Given the description of an element on the screen output the (x, y) to click on. 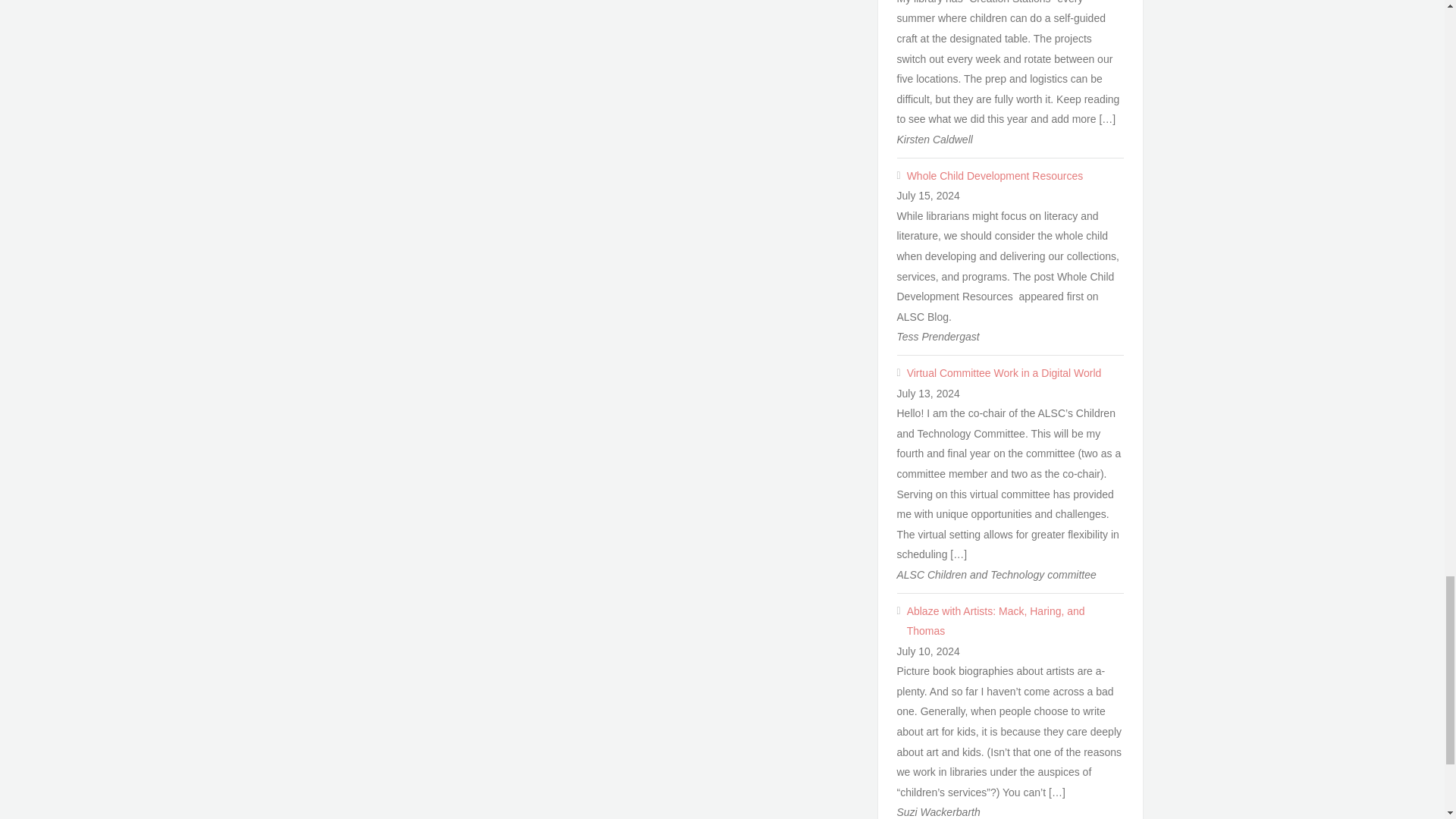
Whole Child Development Resources  (1015, 176)
